Given the description of an element on the screen output the (x, y) to click on. 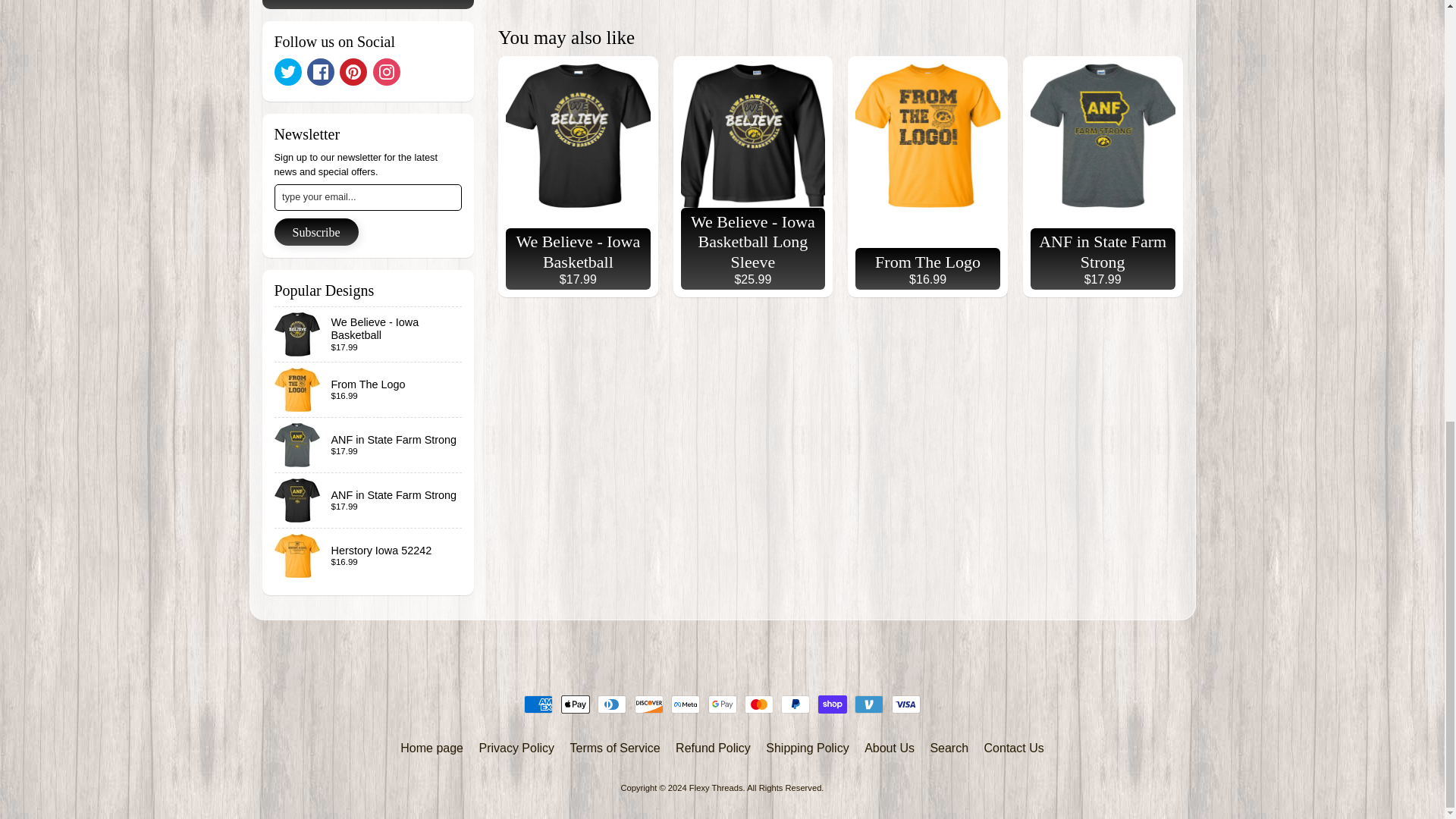
Diners Club (611, 704)
Herstory Iowa 52242 (369, 555)
Meta Pay (685, 704)
Venmo (868, 704)
PayPal (794, 704)
Visa (905, 704)
American Express (538, 704)
From The Logo (369, 389)
ANF in State Farm Strong (369, 444)
Google Pay (721, 704)
